Given the description of an element on the screen output the (x, y) to click on. 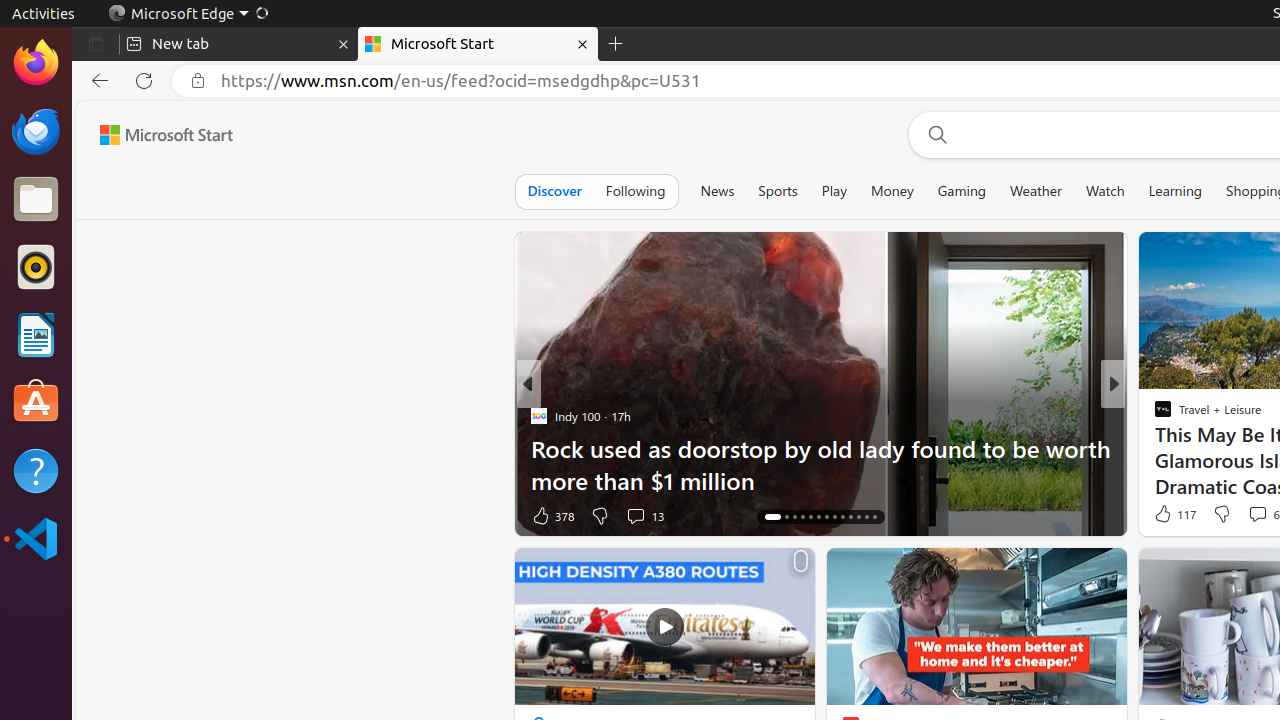
Following Element type: link (635, 191)
2 Like Element type: toggle-button (1161, 515)
View comments 13 Comment Element type: link (644, 515)
Tab actions menu Element type: push-button (96, 44)
Firefox Web Browser Element type: push-button (36, 63)
